Given the description of an element on the screen output the (x, y) to click on. 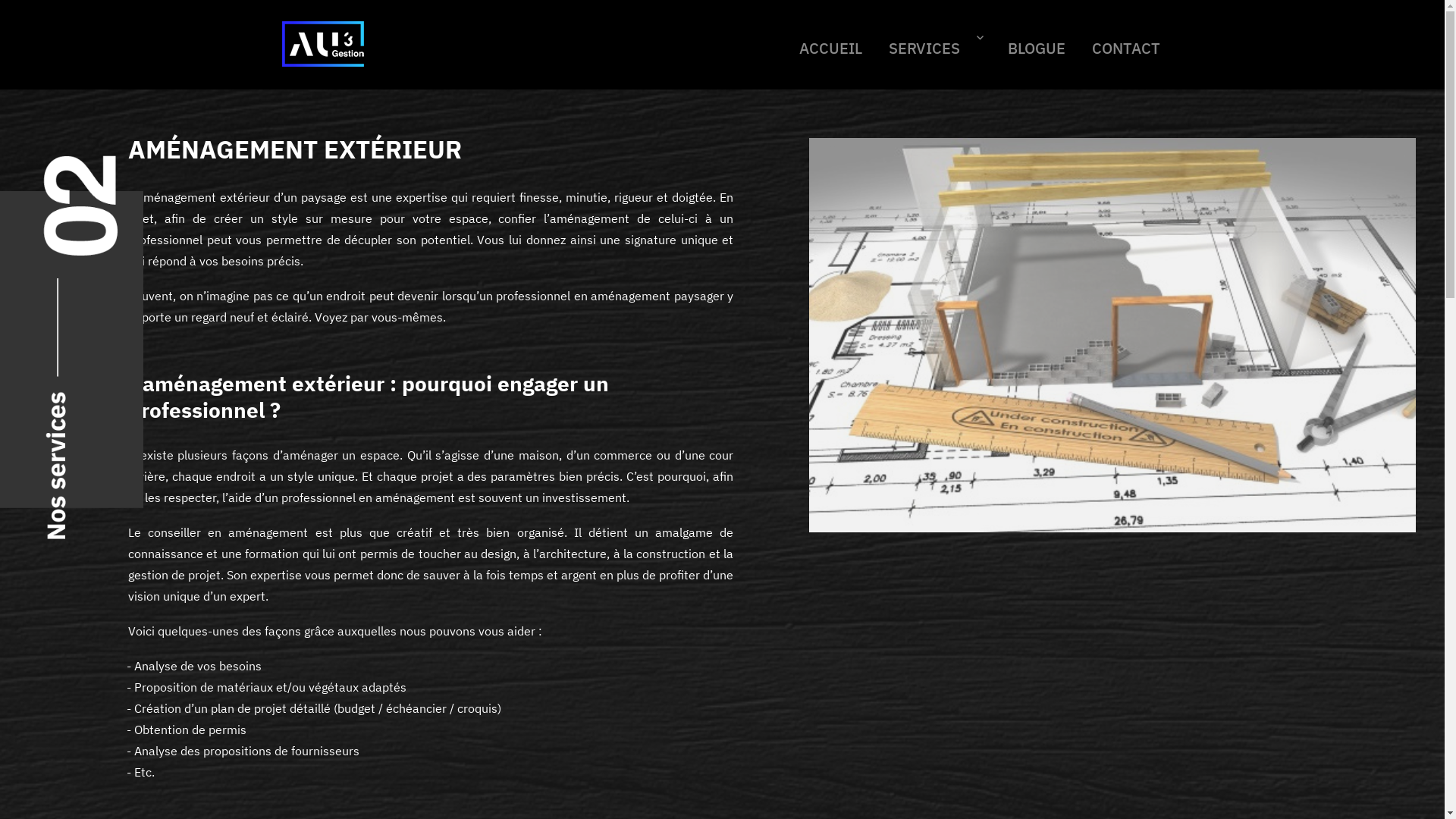
BLOGUE Element type: text (1036, 44)
SERVICES Element type: text (934, 44)
CONTACT Element type: text (1125, 44)
Planification de projet construction Element type: hover (323, 43)
ACCUEIL Element type: text (830, 44)
Planification de projet construction Element type: hover (323, 42)
